Given the description of an element on the screen output the (x, y) to click on. 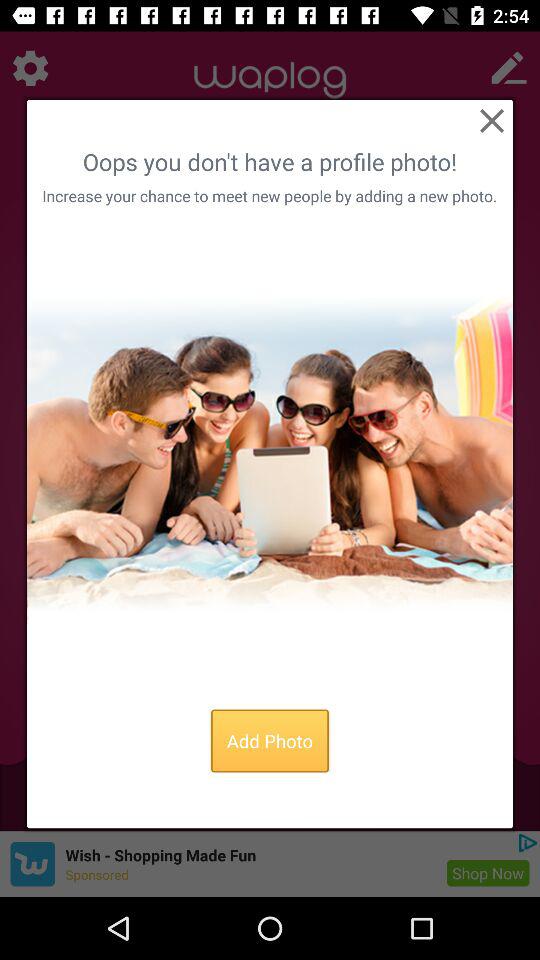
delete (491, 120)
